Given the description of an element on the screen output the (x, y) to click on. 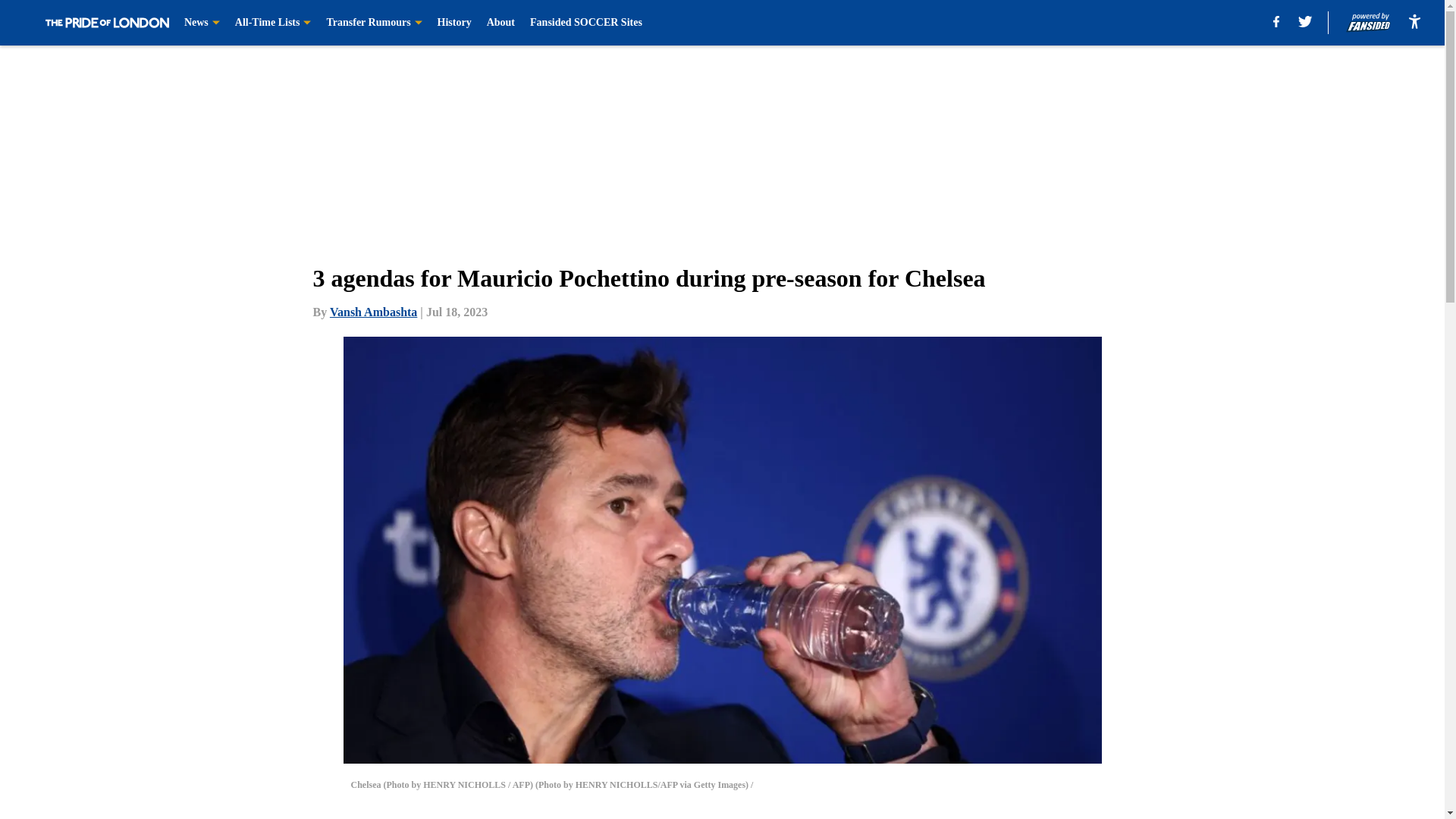
Vansh Ambashta (373, 311)
Fansided SOCCER Sites (585, 22)
About (500, 22)
History (454, 22)
